Given the description of an element on the screen output the (x, y) to click on. 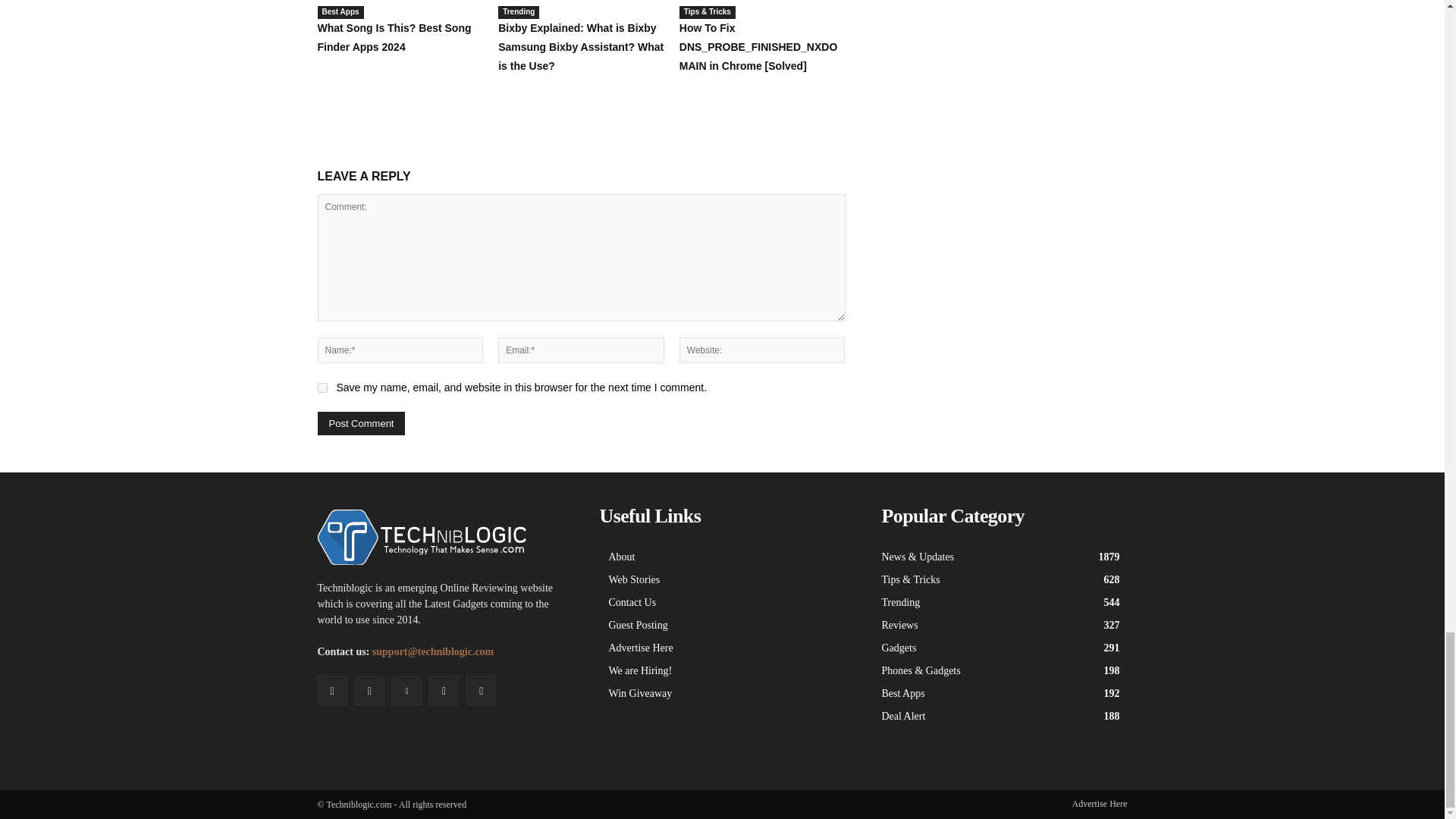
Post Comment (360, 422)
yes (321, 388)
